Given the description of an element on the screen output the (x, y) to click on. 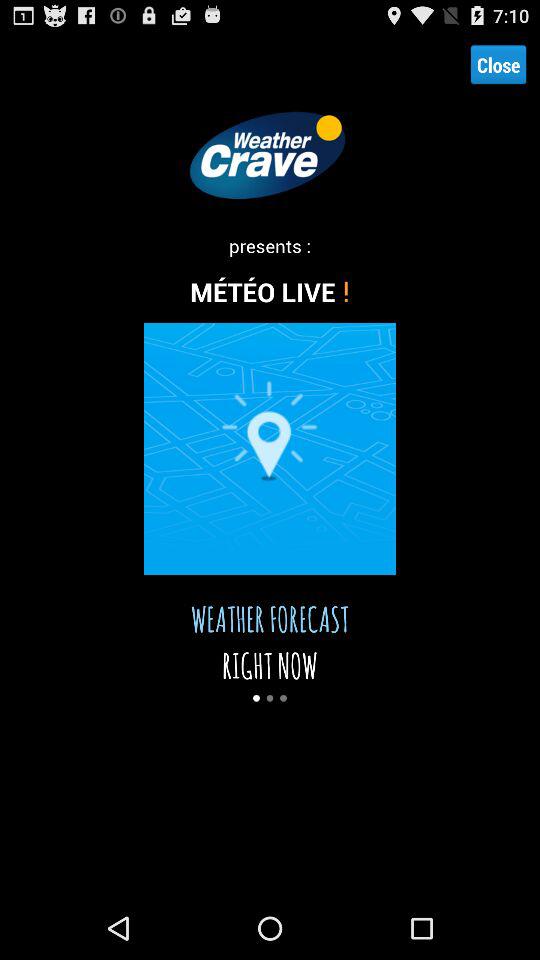
press the close (498, 64)
